Given the description of an element on the screen output the (x, y) to click on. 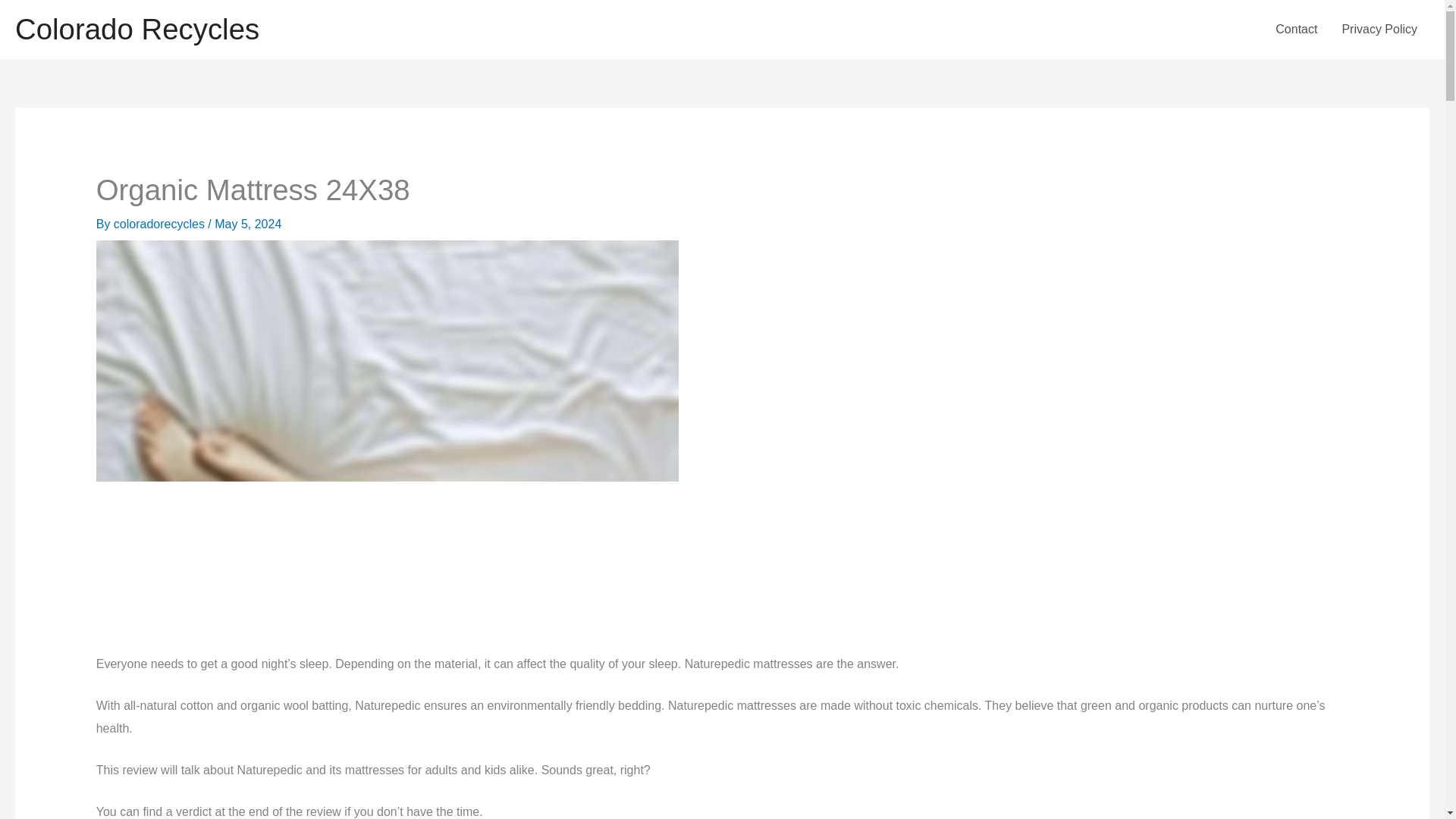
coloradorecycles (160, 223)
Colorado Recycles (136, 29)
View all posts by coloradorecycles (160, 223)
Privacy Policy (1379, 29)
Contact (1296, 29)
